Given the description of an element on the screen output the (x, y) to click on. 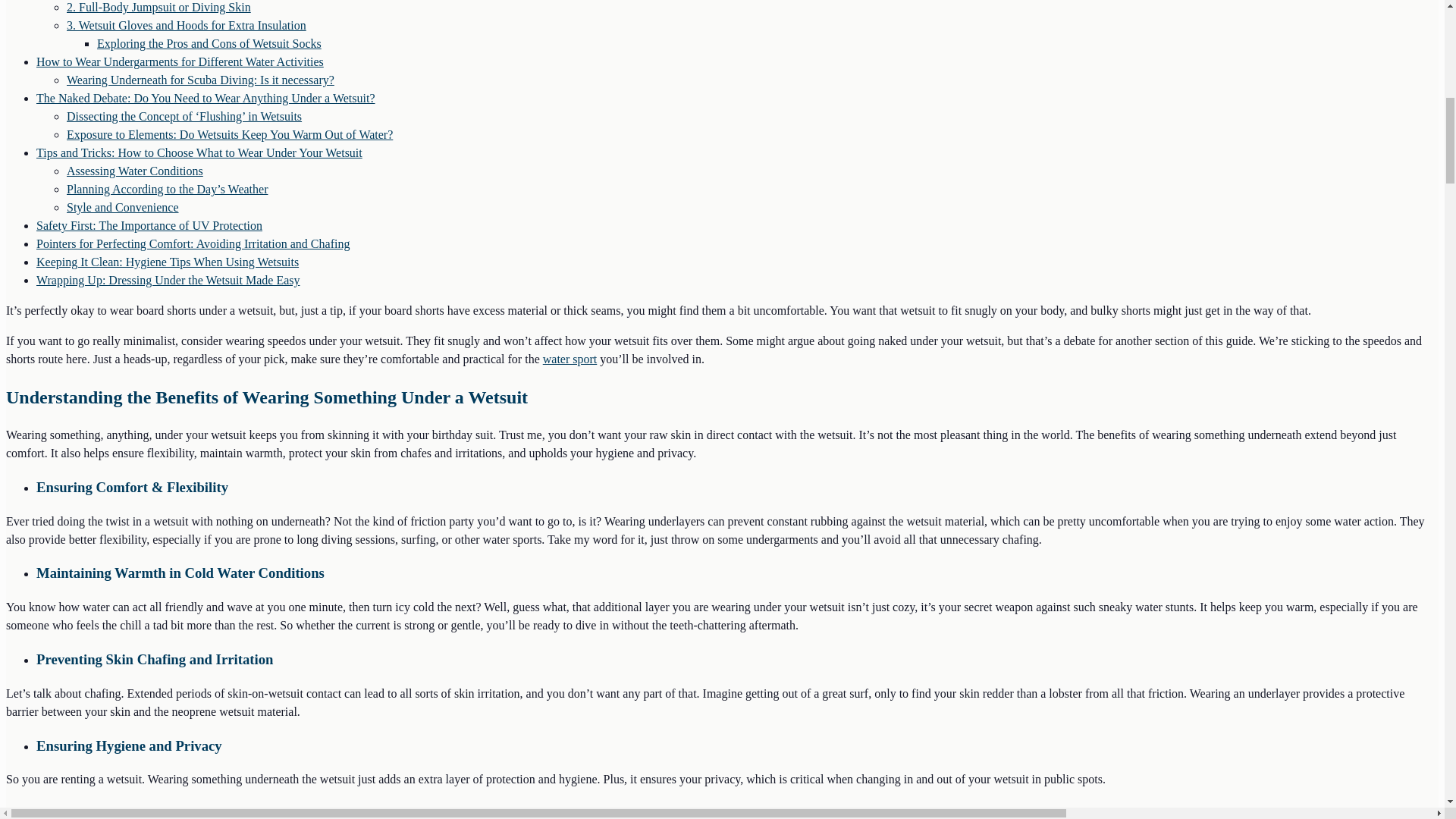
How to Wear Undergarments for Different Water Activities (179, 61)
Exploring the Pros and Cons of Wetsuit Socks (209, 42)
Wearing Underneath for Scuba Diving: Is it necessary? (200, 79)
Wrapping Up: Dressing Under the Wetsuit Made Easy (167, 279)
Safety First: The Importance of UV Protection (149, 225)
Style and Convenience (122, 206)
3. Wetsuit Gloves and Hoods for Extra Insulation (185, 24)
2. Full-Body Jumpsuit or Diving Skin (158, 6)
Assessing Water Conditions (134, 170)
Keeping It Clean: Hygiene Tips When Using Wetsuits (167, 261)
